Given the description of an element on the screen output the (x, y) to click on. 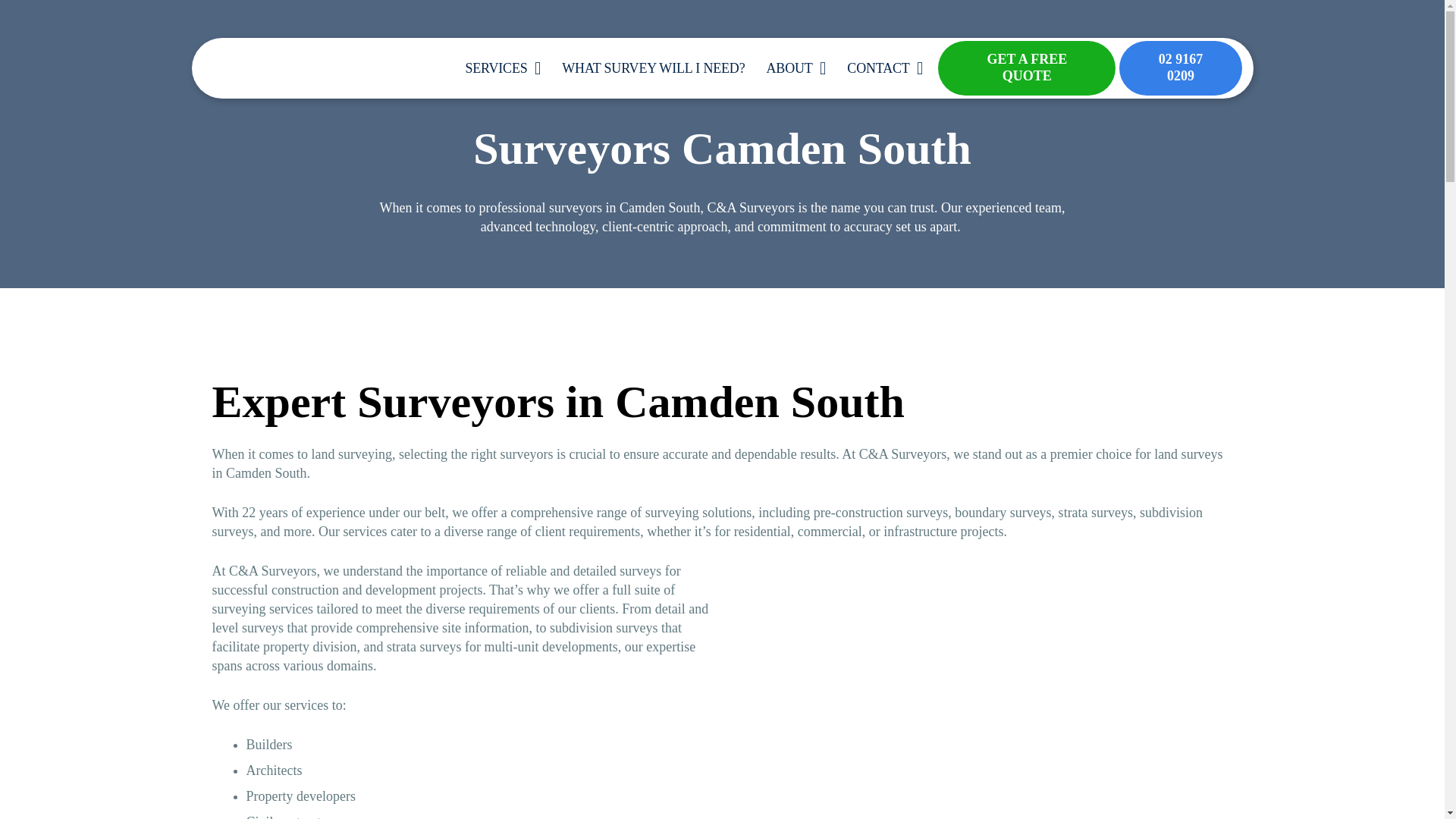
ABOUT (795, 67)
SERVICES (502, 67)
WHAT SURVEY WILL I NEED? (653, 67)
